Given the description of an element on the screen output the (x, y) to click on. 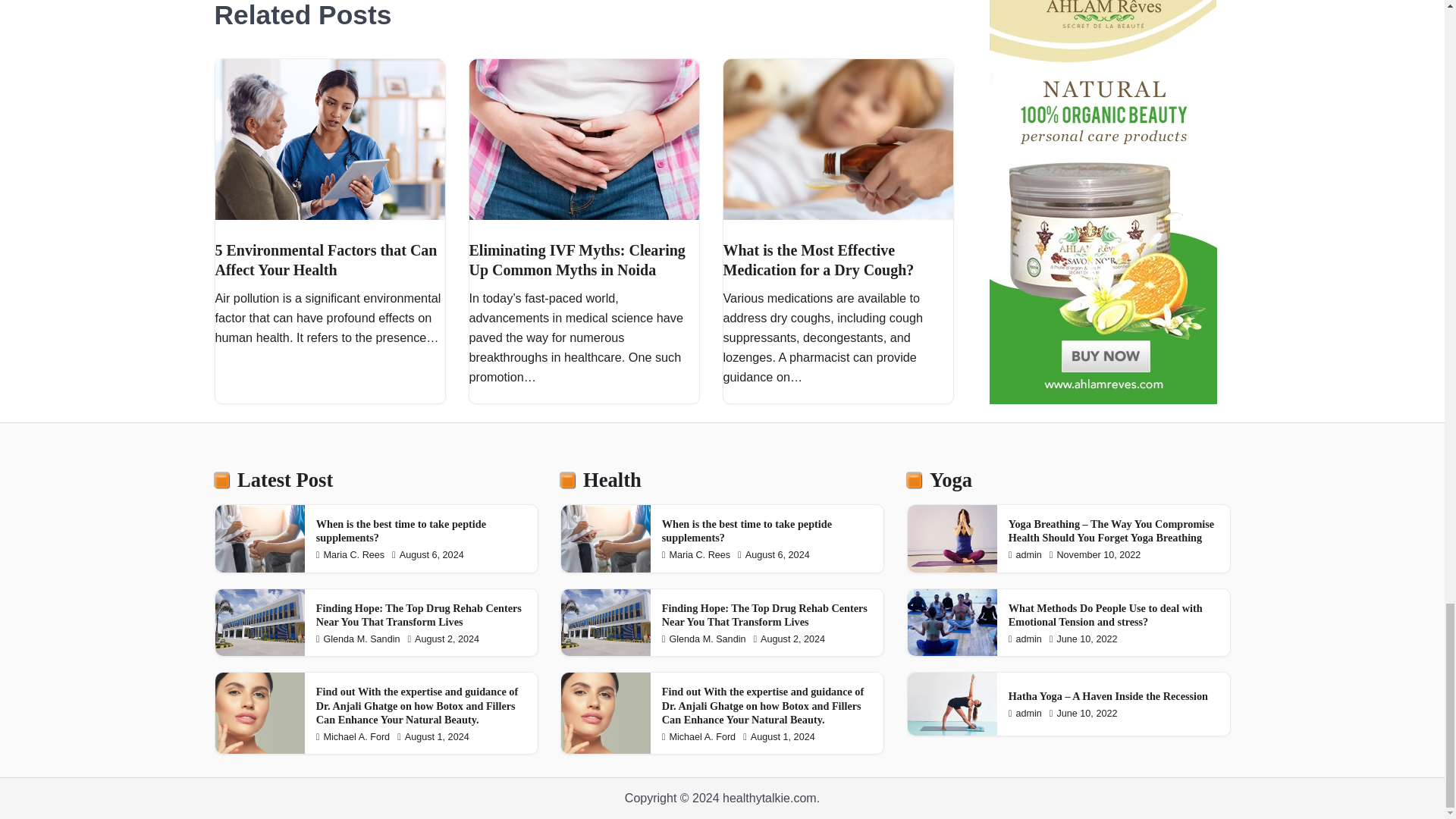
Eliminating IVF Myths: Clearing Up Common Myths in Noida (576, 259)
What is the Most Effective Medication for a Dry Cough? (818, 259)
5 Environmental Factors that Can Affect Your Health (326, 259)
